Given the description of an element on the screen output the (x, y) to click on. 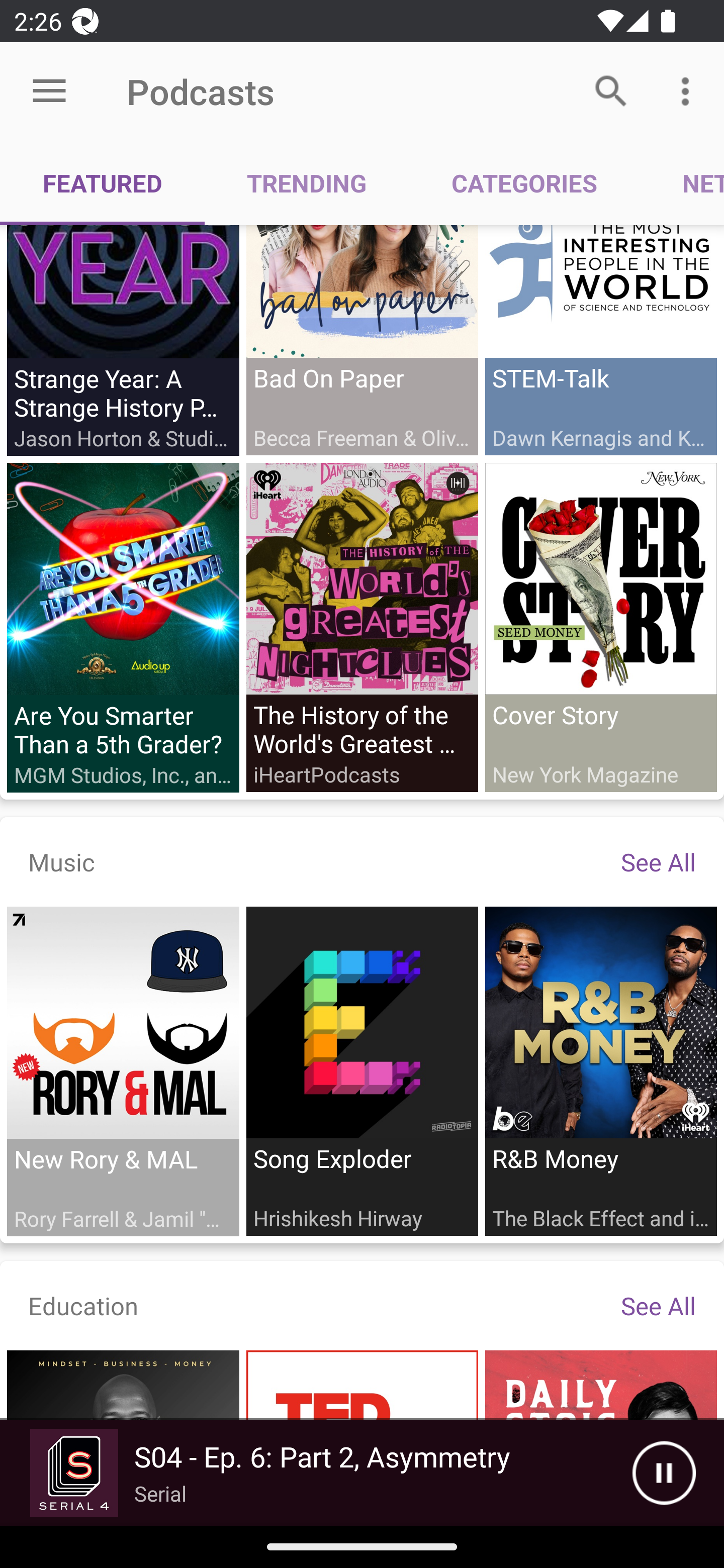
Open menu (49, 91)
Search (611, 90)
More options (688, 90)
FEATURED (102, 183)
TRENDING (306, 183)
CATEGORIES (524, 183)
Bad On Paper Becca Freeman & Olivia Muenter (361, 339)
STEM-Talk Dawn Kernagis and Ken Ford (600, 339)
Cover Story New York Magazine (600, 626)
Music (61, 861)
See All (658, 861)
Song Exploder Hrishikesh Hirway (361, 1070)
R&B Money The Black Effect and iHeartPodcasts (600, 1070)
Education (83, 1304)
See All (658, 1304)
Picture S04 - Ep. 6: Part 2, Asymmetry Serial (316, 1472)
Pause (663, 1472)
